Given the description of an element on the screen output the (x, y) to click on. 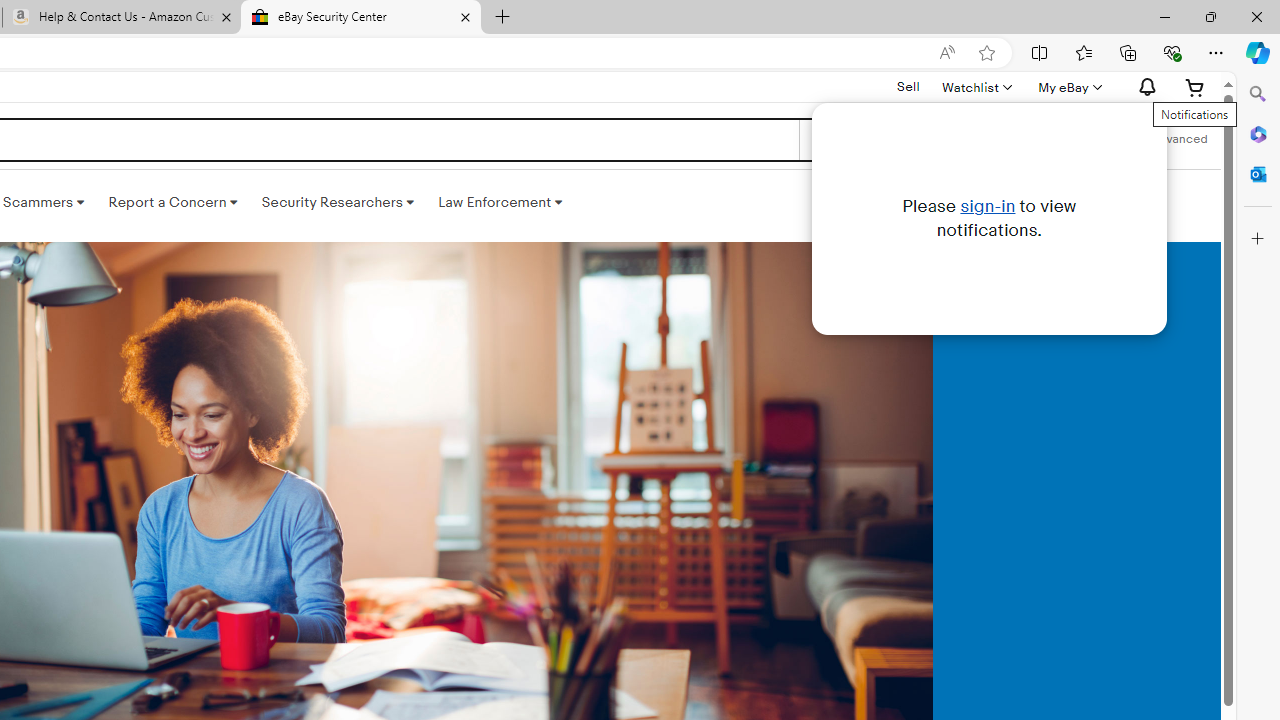
Watchlist (975, 87)
Report a Concern  (173, 202)
My eBay (1068, 87)
Security Researchers  (337, 202)
Expand Cart (1195, 87)
WatchlistExpand Watch List (975, 87)
Notifications (1142, 87)
Your shopping cart (1195, 87)
